Given the description of an element on the screen output the (x, y) to click on. 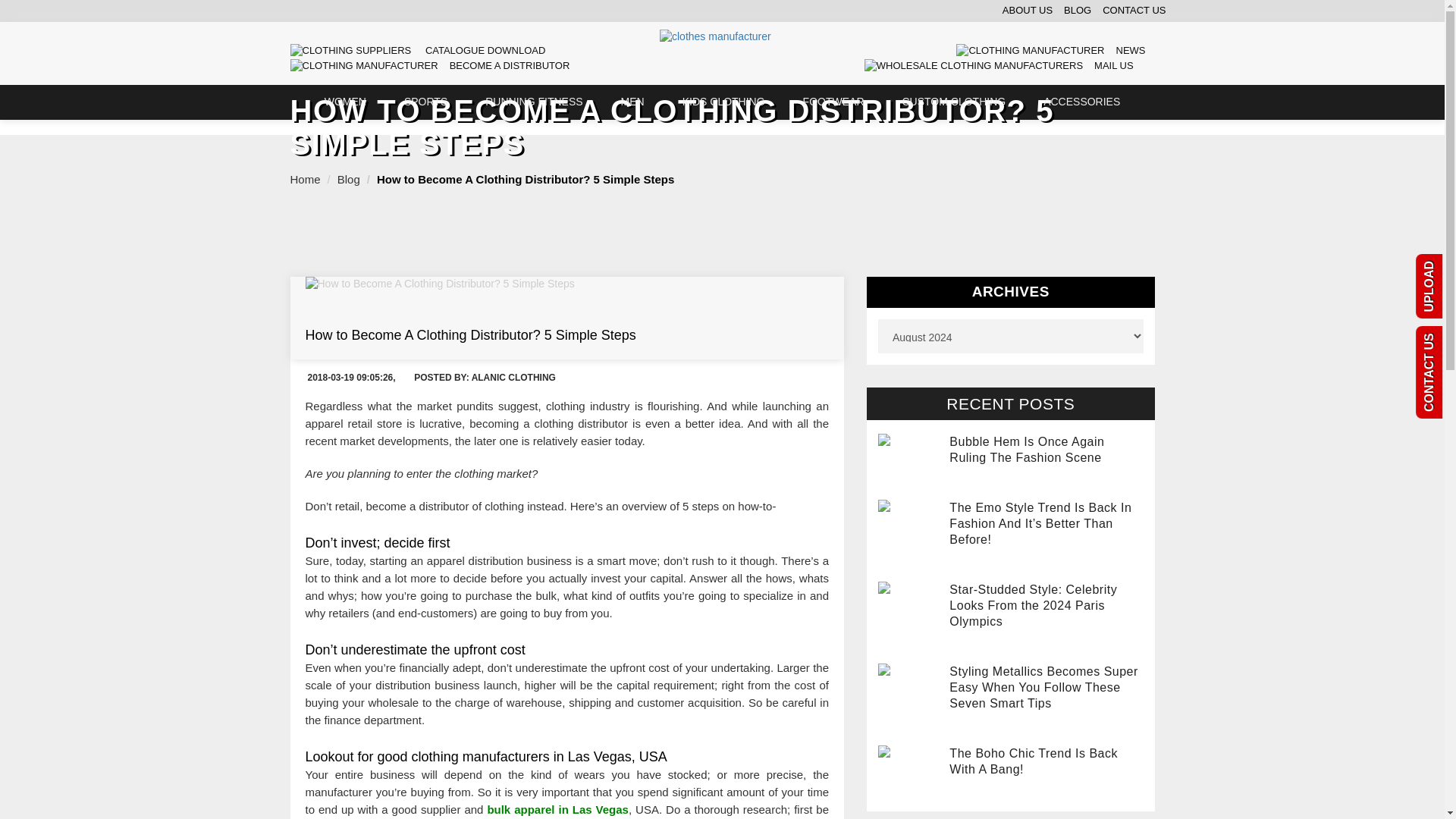
CONTACT US (1128, 11)
BECOME A DISTRIBUTOR (433, 65)
SPORTS (425, 102)
wholesale clothing suppliers (363, 65)
CATALOGUE DOWNLOAD (421, 50)
wholesale clothes manufacturers (973, 65)
wholesale clothing supplier (715, 37)
WOMEN (345, 102)
MAIL US (1003, 65)
clothing wholesale (349, 51)
